Given the description of an element on the screen output the (x, y) to click on. 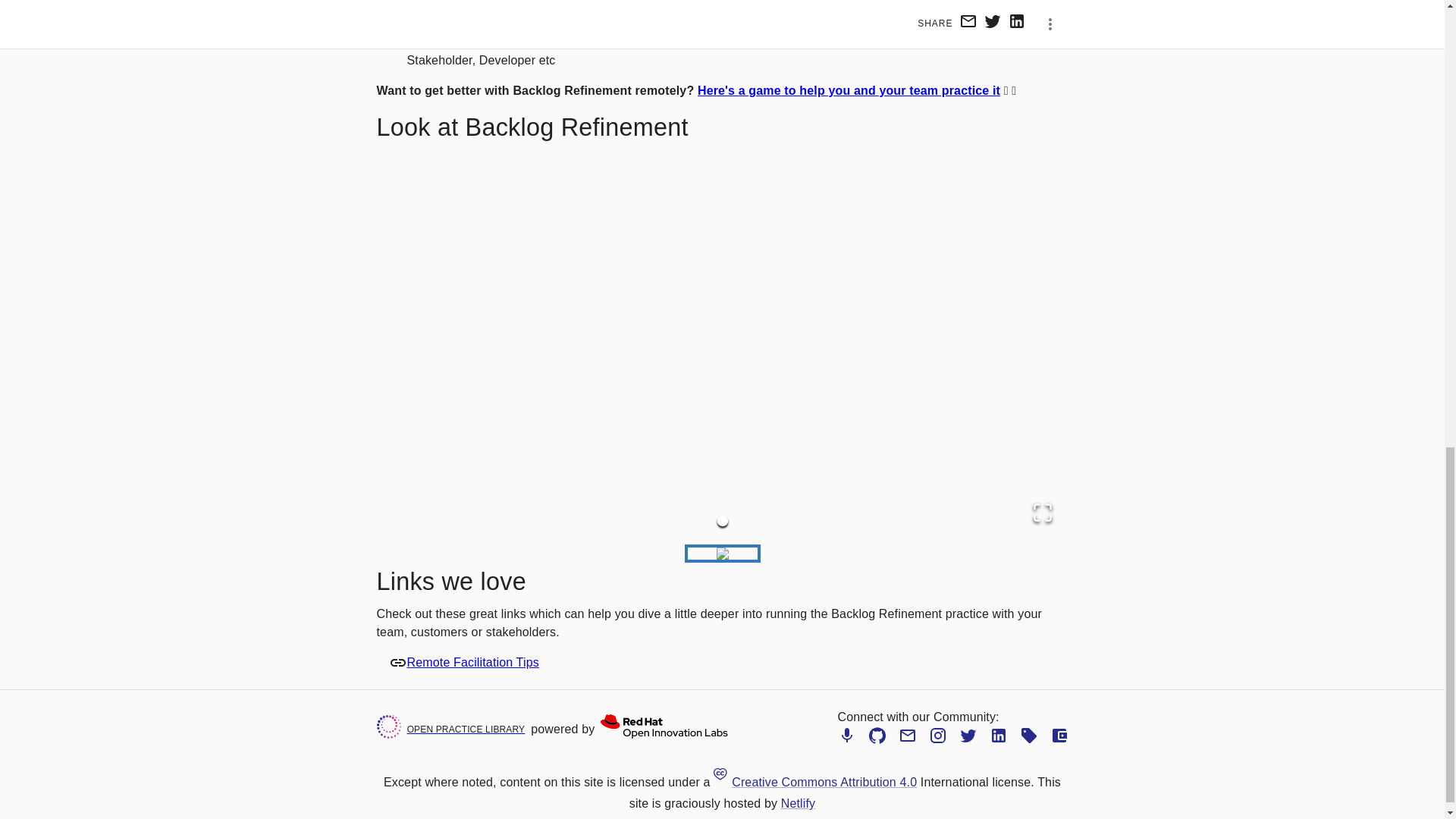
Remote Facilitation Tips (472, 662)
Here's a game to help you and your team practice it (848, 90)
Creative Commons Attribution 4.0 (815, 781)
OPEN PRACTICE LIBRARY (453, 728)
Netlify (797, 802)
